Given the description of an element on the screen output the (x, y) to click on. 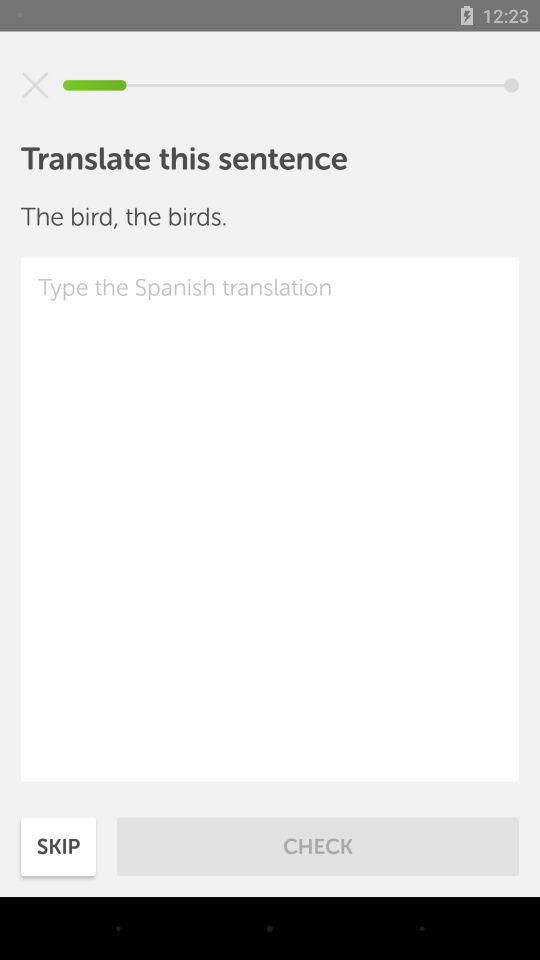
tap item next to skip item (318, 846)
